Given the description of an element on the screen output the (x, y) to click on. 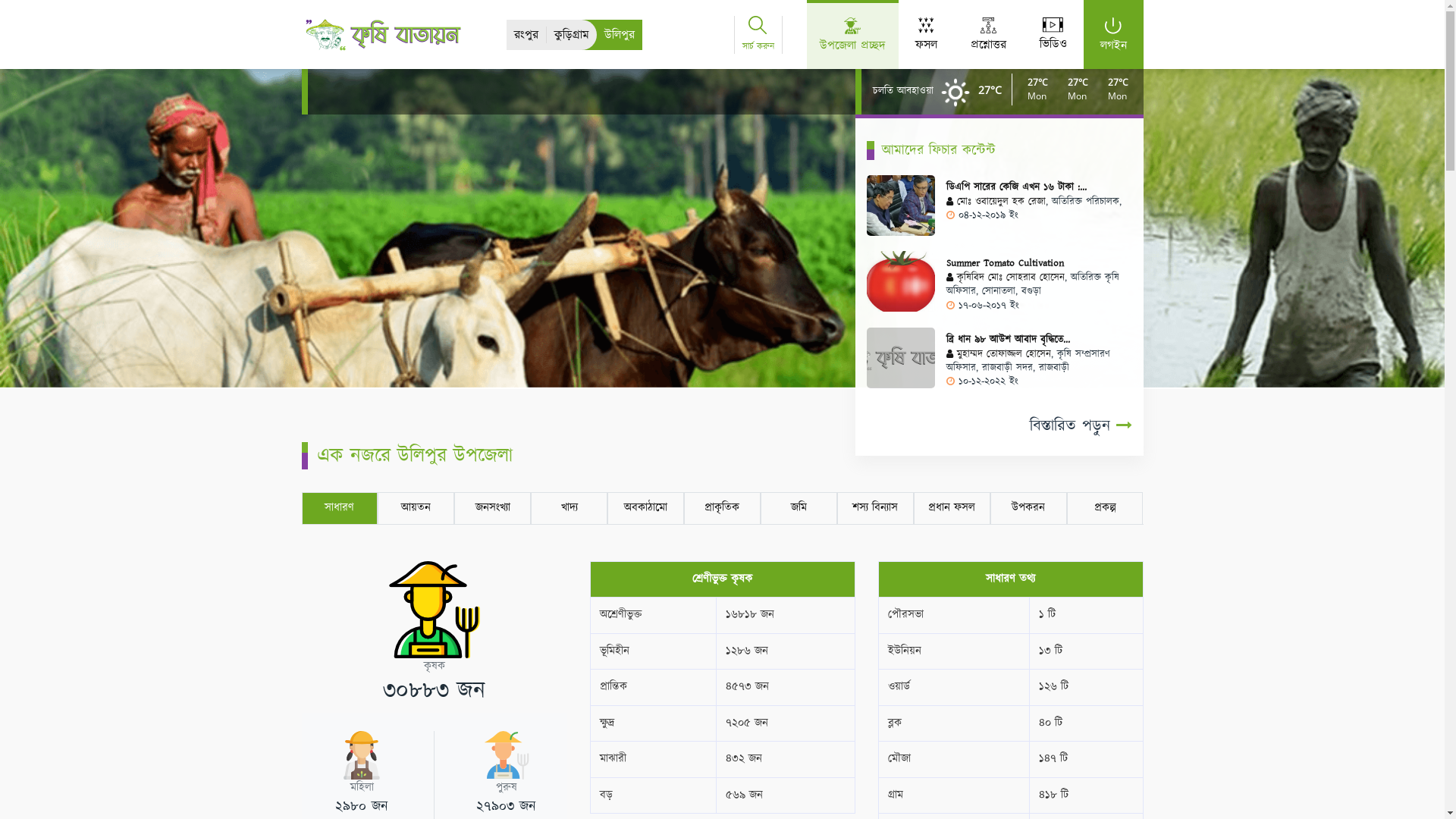
Summer Tomato Cultivation Element type: text (1004, 262)
